Given the description of an element on the screen output the (x, y) to click on. 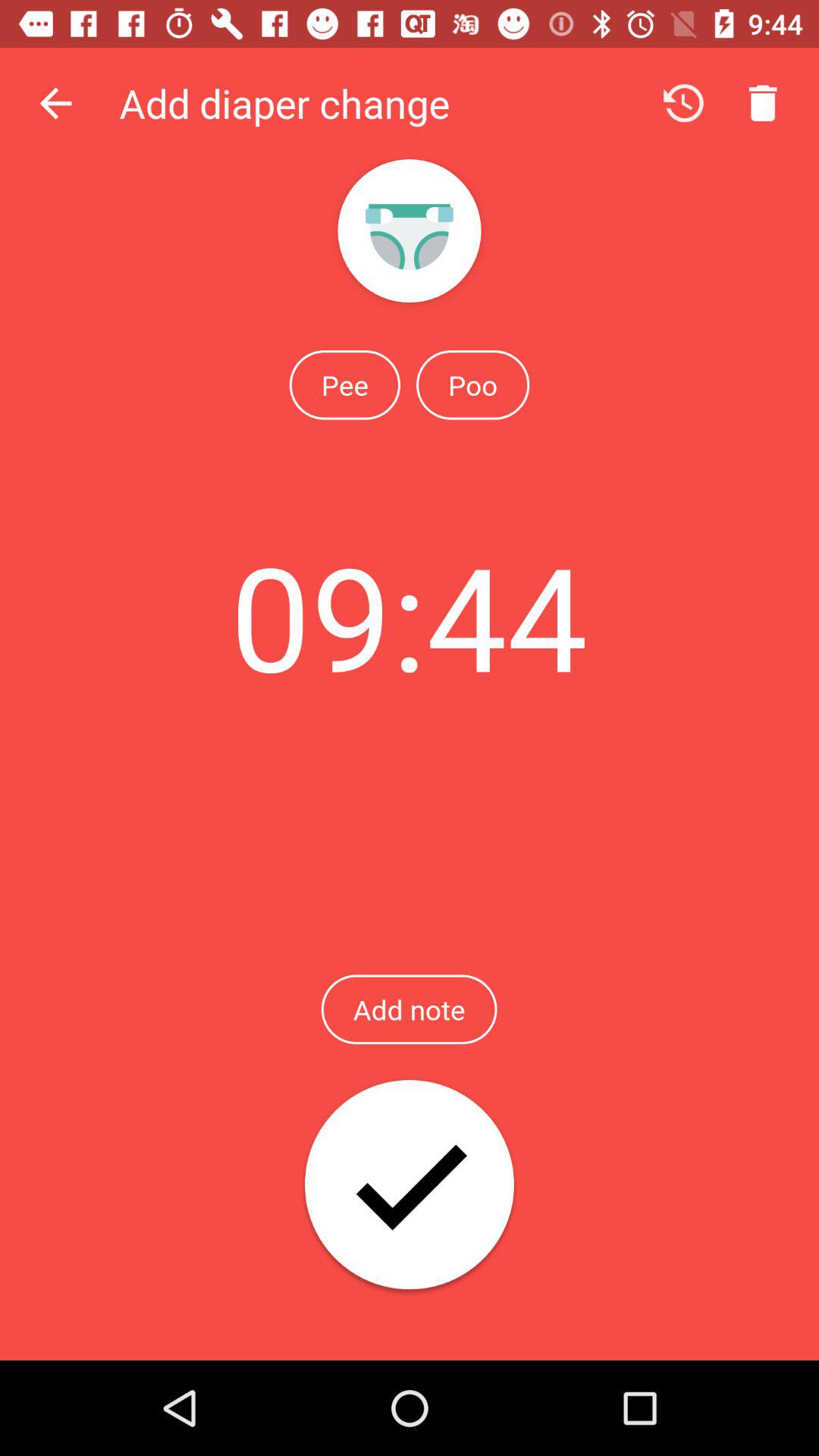
check to complete (409, 1186)
